Given the description of an element on the screen output the (x, y) to click on. 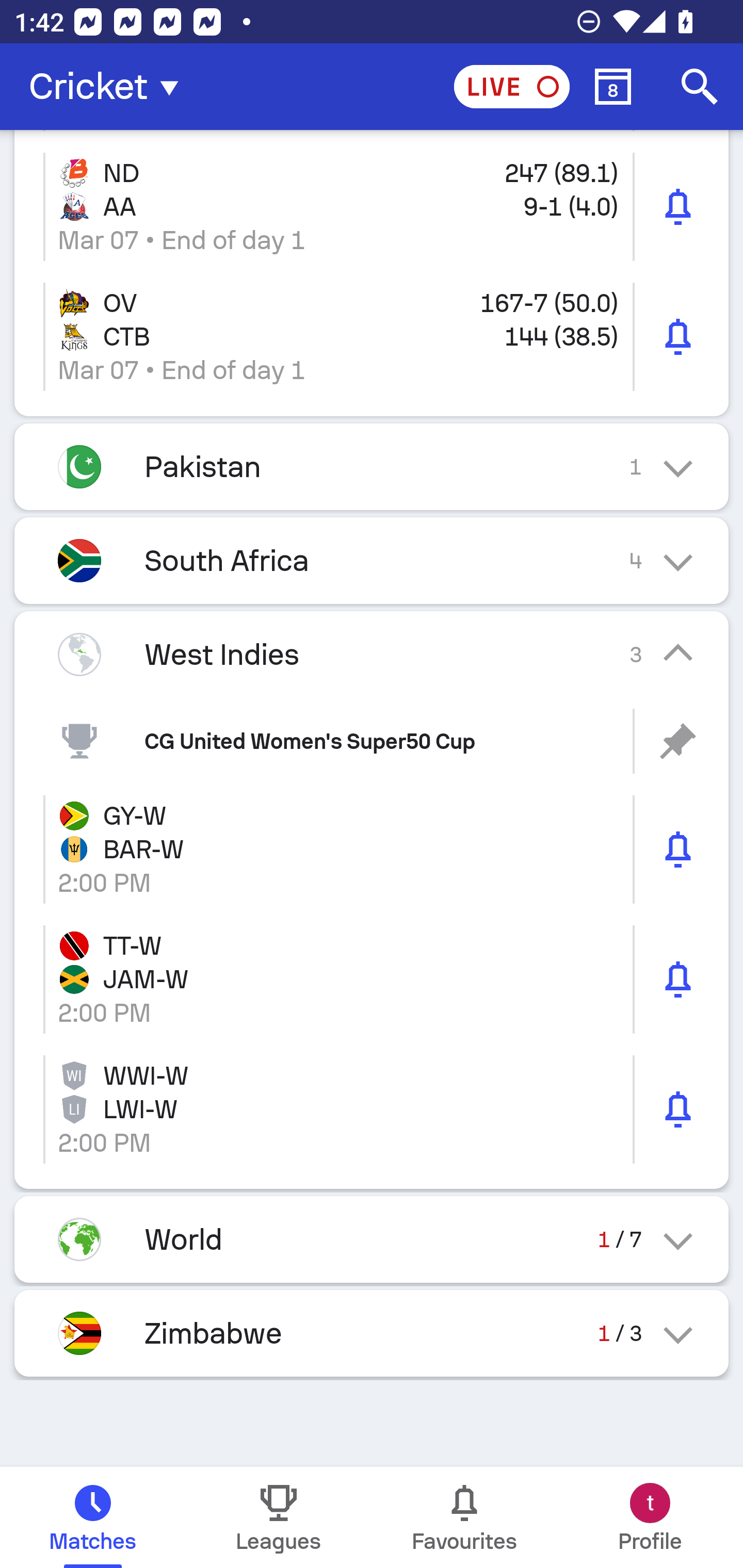
Cricket (109, 86)
Calendar (612, 86)
Search (699, 86)
ND 247 (89.1) AA 9-1 (4.0) Mar 07 • End of day 1 (371, 206)
Pakistan 1 (371, 466)
South Africa 4 (371, 560)
West Indies 3 (371, 654)
CG United Women's Super50 Cup (371, 740)
GY-W BAR-W 2:00 PM (371, 849)
TT-W JAM-W 2:00 PM (371, 979)
WWI-W LWI-W 2:00 PM (371, 1109)
World 1 / 7 (371, 1239)
Zimbabwe 1 / 3 (371, 1333)
Leagues (278, 1517)
Favourites (464, 1517)
Profile (650, 1517)
